Given the description of an element on the screen output the (x, y) to click on. 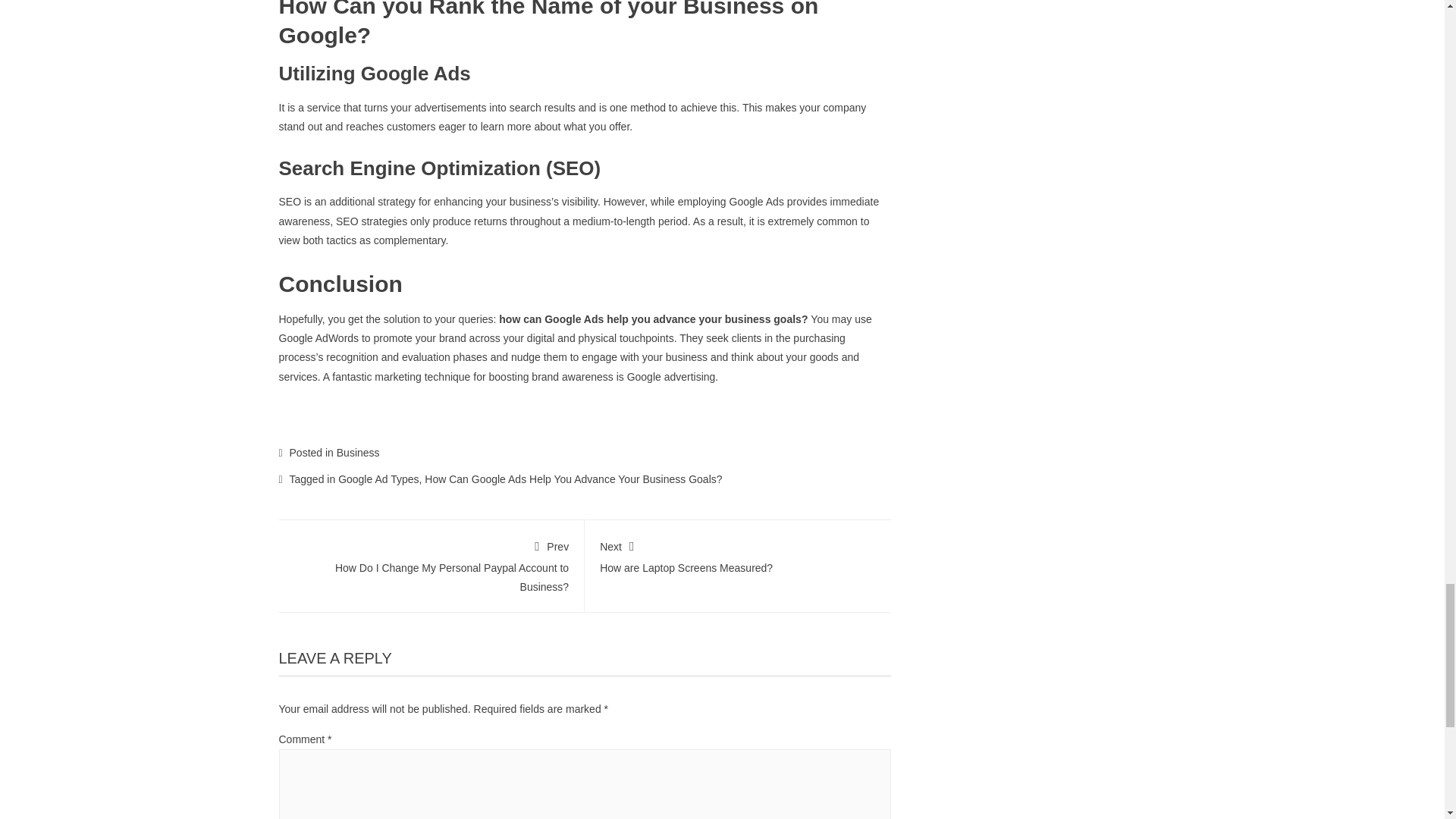
how can Google Ads help you advance your business goals? (653, 318)
How Can Google Ads Help You Advance Your Business Goals? (573, 479)
Business (358, 452)
Google Ad Types (431, 563)
